Given the description of an element on the screen output the (x, y) to click on. 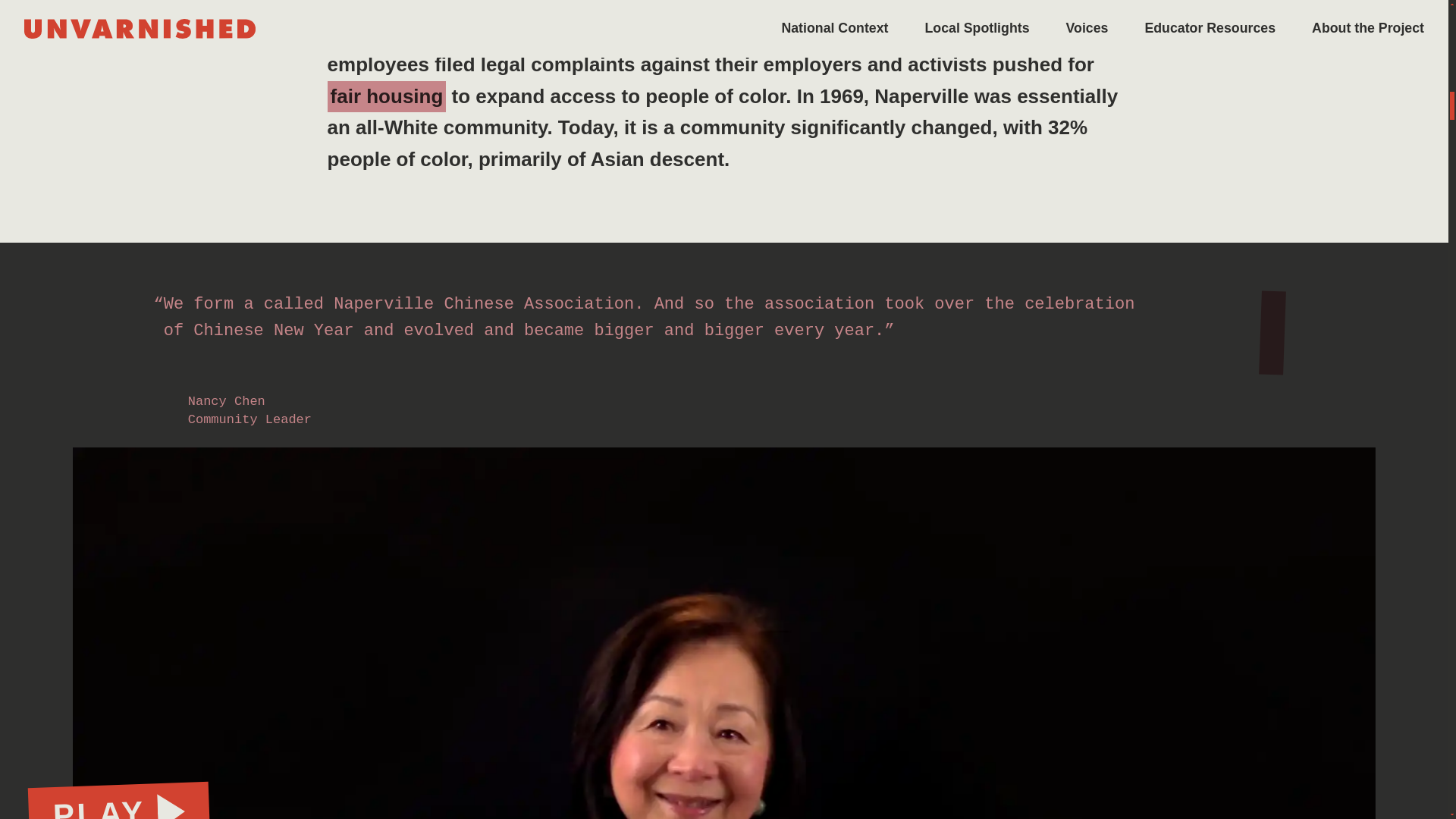
PLAY (117, 800)
